Given the description of an element on the screen output the (x, y) to click on. 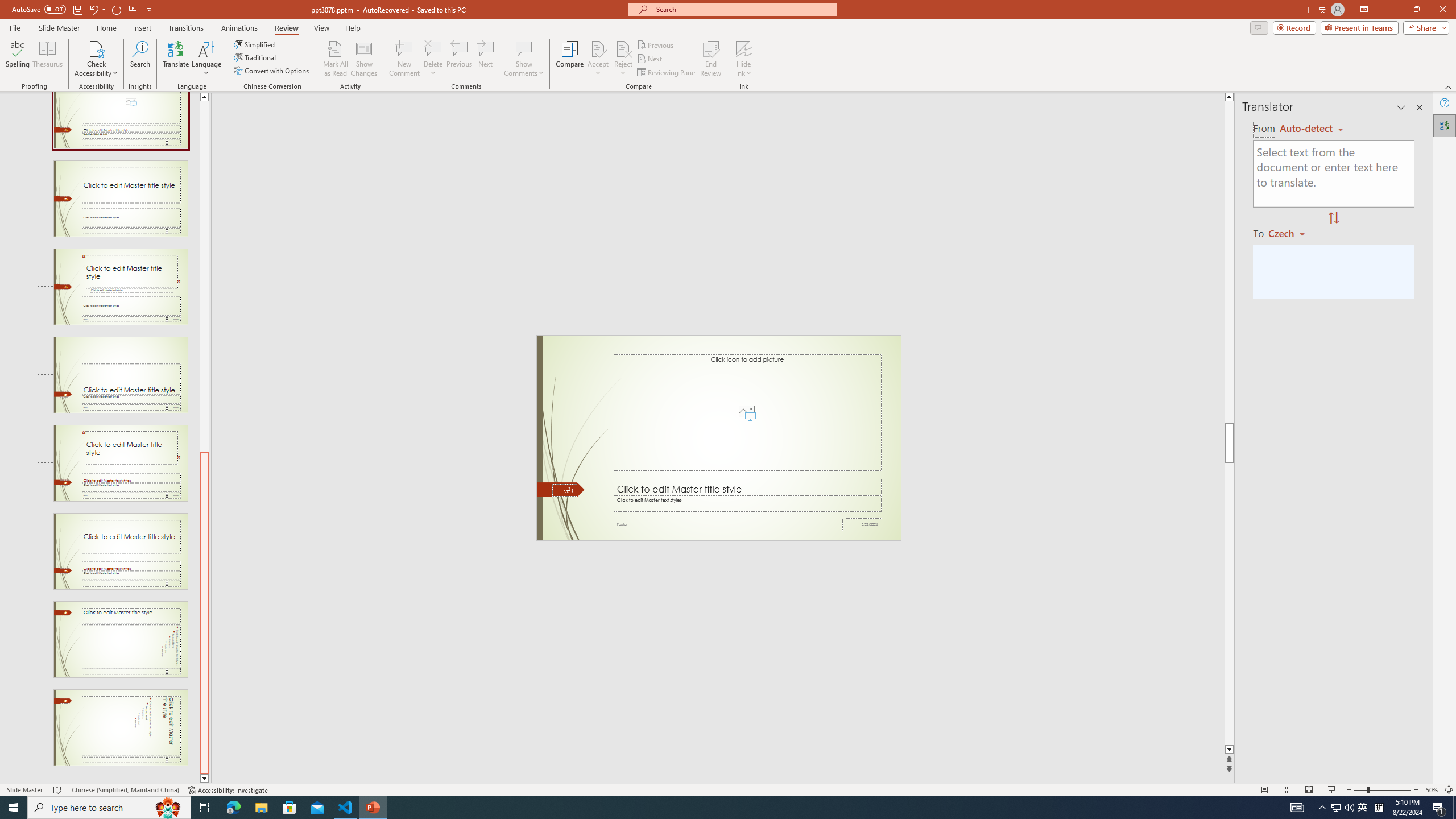
Thesaurus... (47, 58)
Slide Quote with Caption Layout: used by no slides (120, 286)
Hide Ink (743, 58)
Show Comments (524, 48)
Line down (204, 778)
Reviewing Pane (666, 72)
Traditional (255, 56)
